Given the description of an element on the screen output the (x, y) to click on. 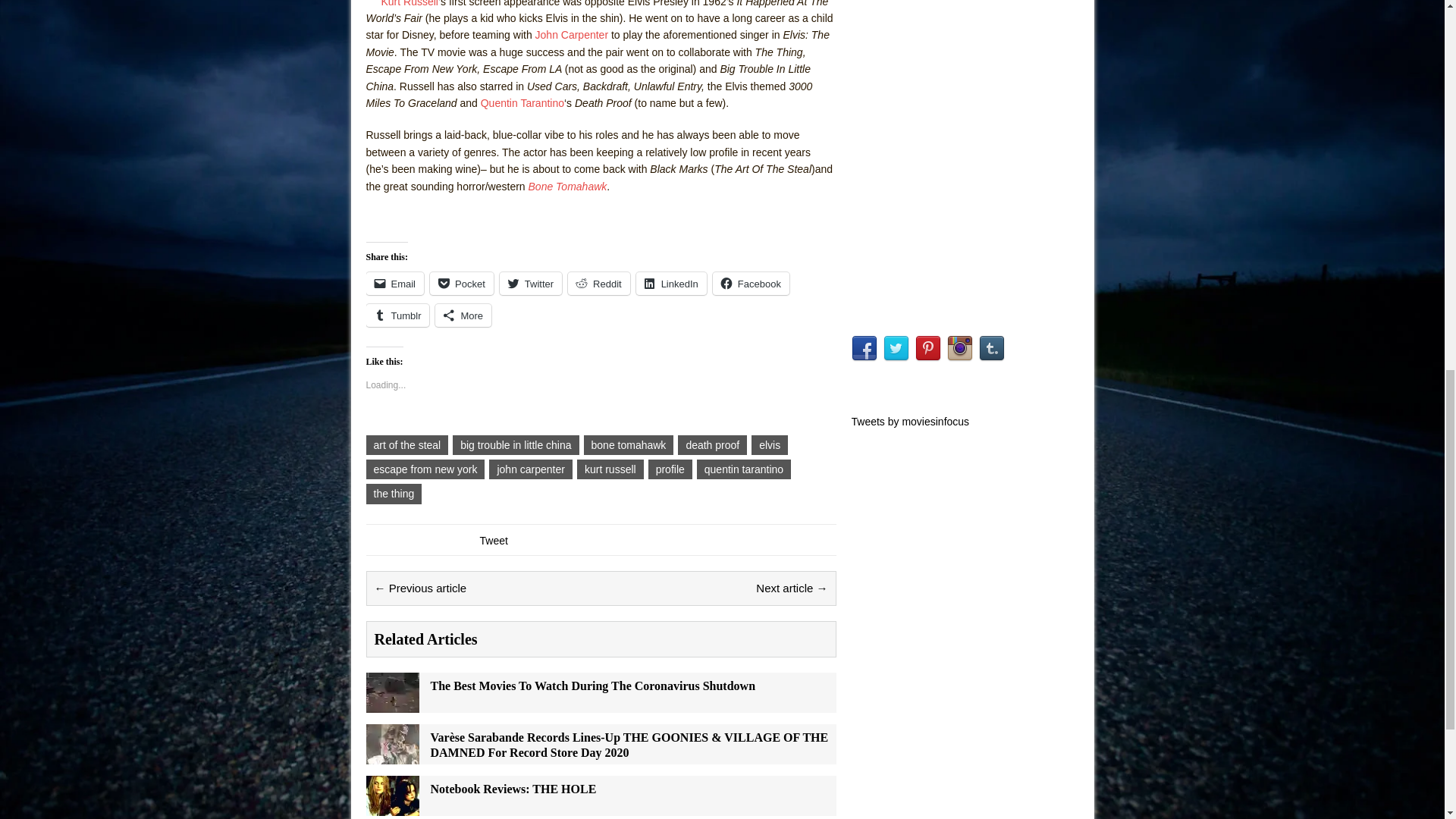
LinkedIn (671, 282)
Facebook (751, 282)
Click to email a link to a friend (394, 282)
art of the steal (406, 444)
Click to share on Tumblr (397, 314)
The Best Movies To Watch During The Coronavirus Shutdown (392, 703)
Kurt Russell (409, 3)
Twitter (530, 282)
More (463, 314)
kurt russell (609, 469)
